Given the description of an element on the screen output the (x, y) to click on. 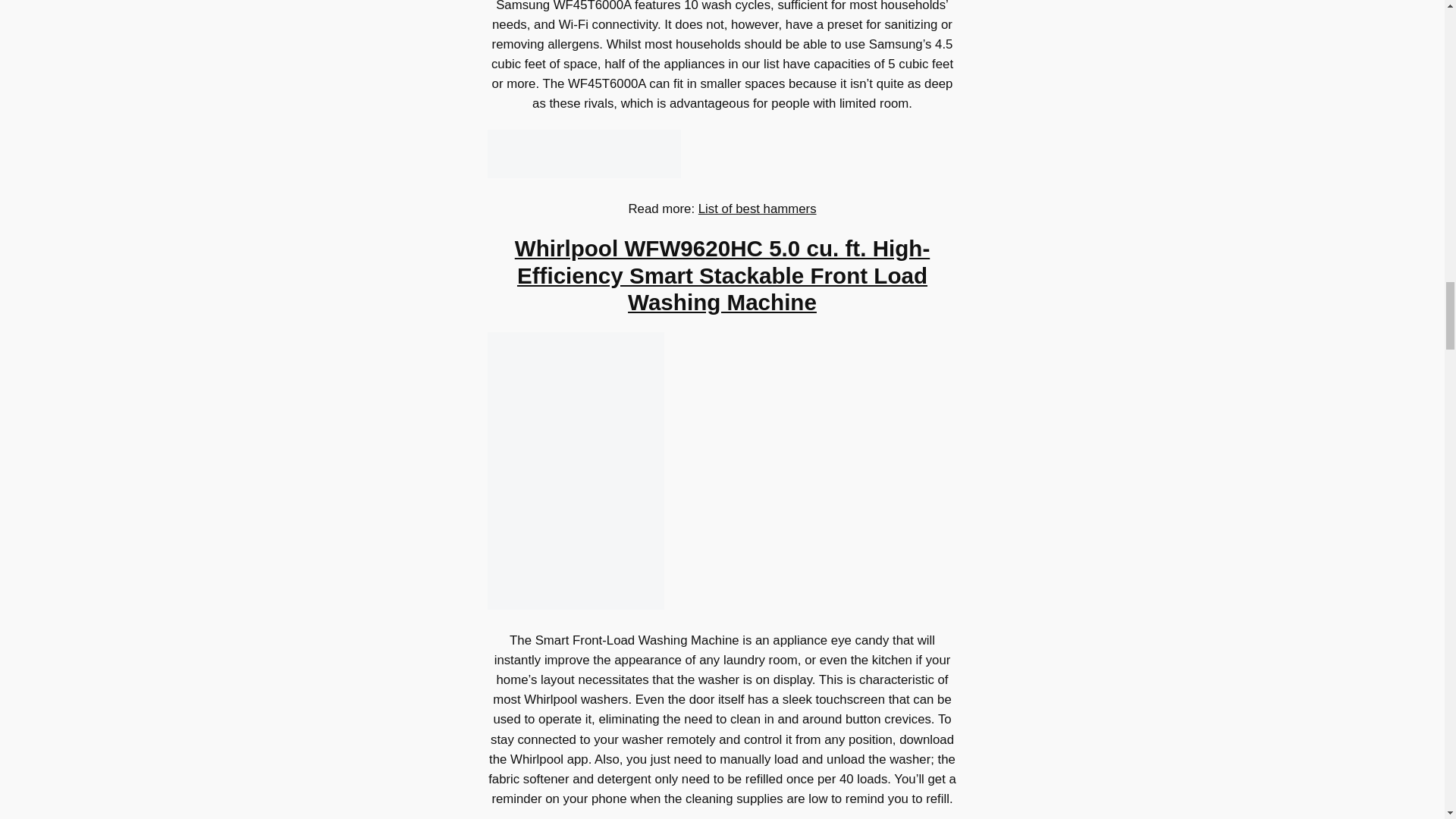
List of best hammers (757, 208)
